Given the description of an element on the screen output the (x, y) to click on. 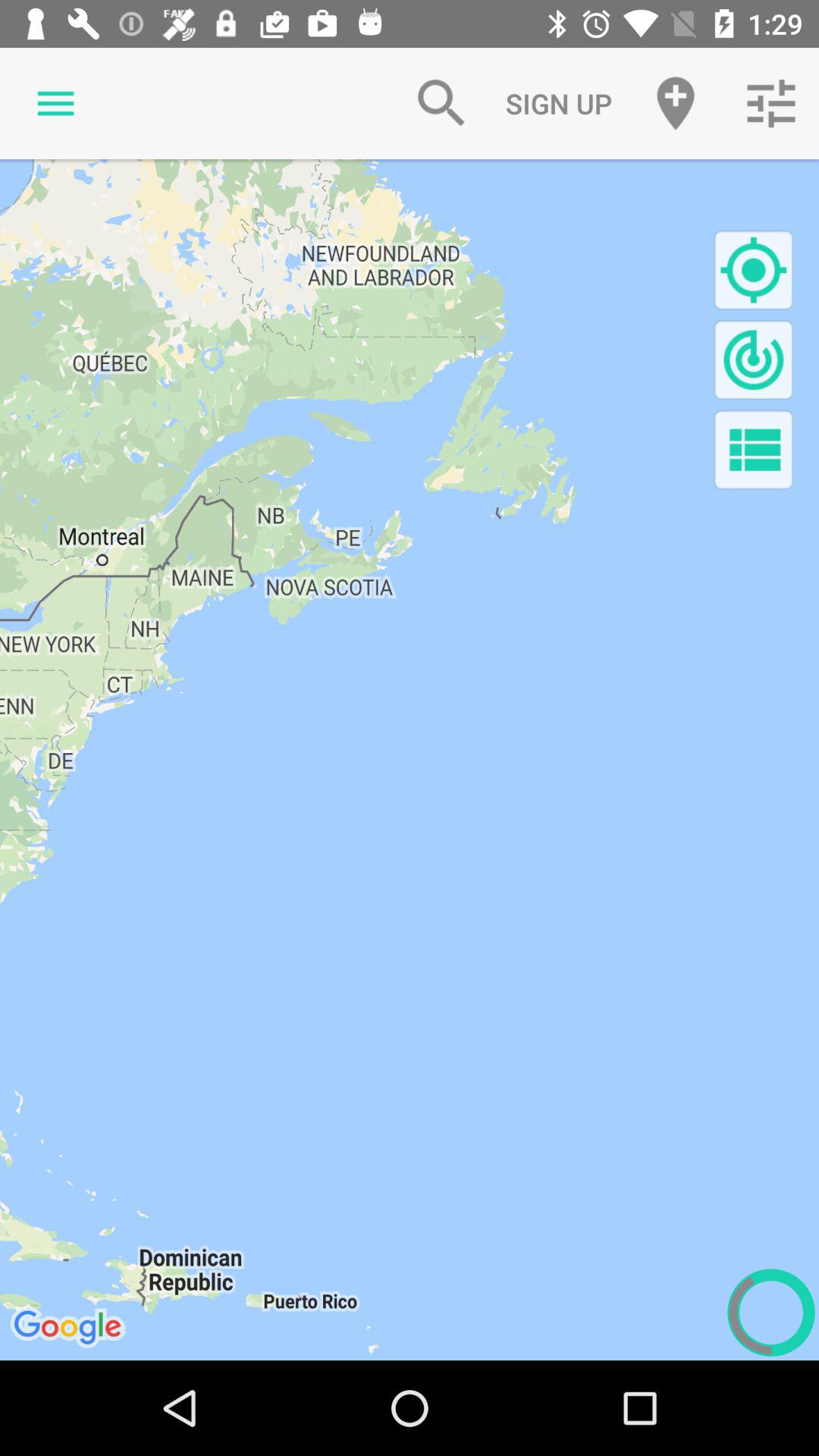
turn off item next to the sign up item (675, 103)
